Given the description of an element on the screen output the (x, y) to click on. 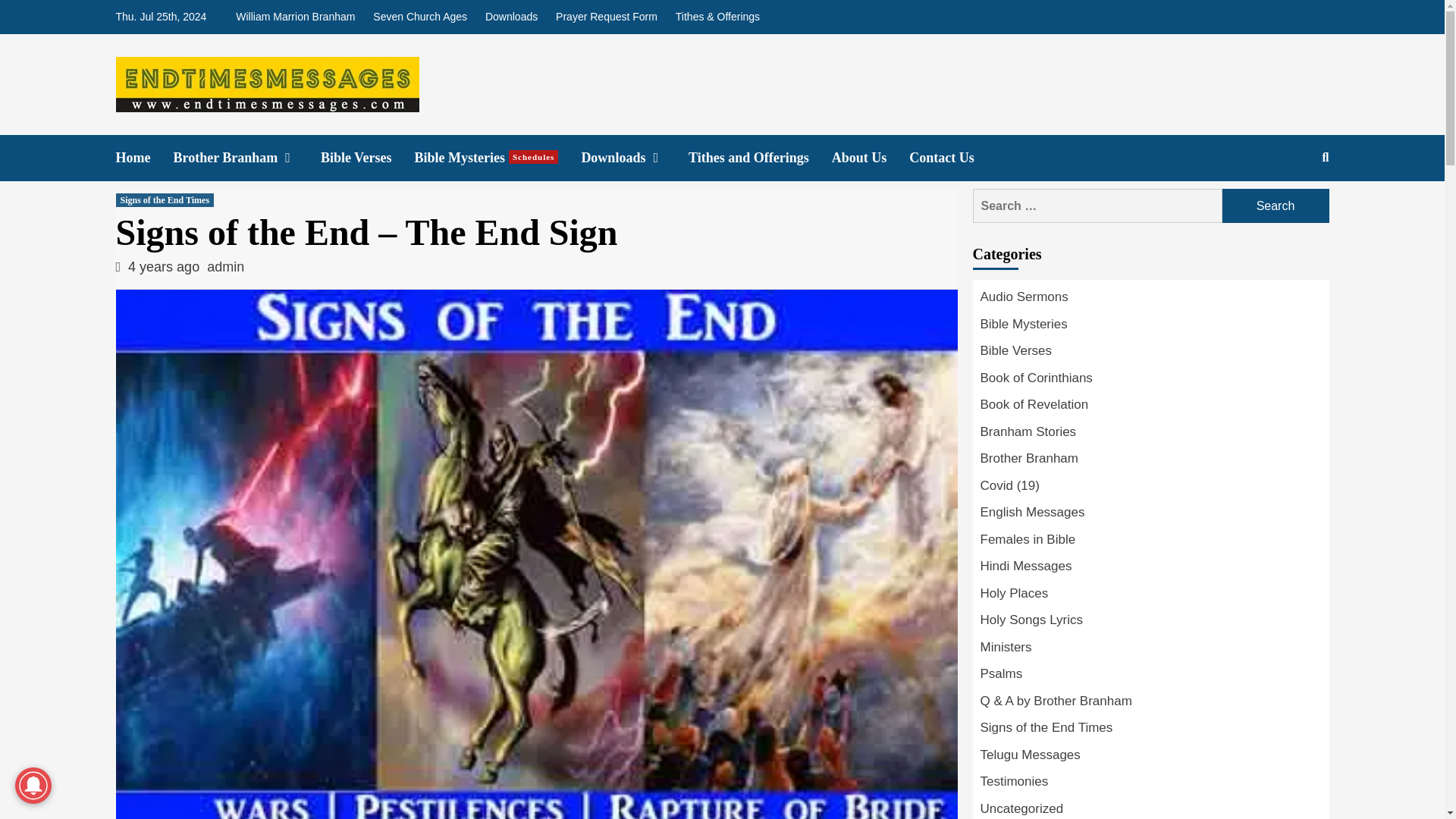
Downloads (510, 17)
Seven Church Ages (419, 17)
admin (225, 266)
Tithes and Offerings (759, 157)
Signs of the End Times (164, 200)
Brother Branham (246, 157)
Downloads (634, 157)
Prayer Request Form (606, 17)
Home (496, 157)
William Marrion Branham (144, 157)
Contact Us (298, 17)
Search (952, 157)
About Us (1276, 205)
Bible Verses (870, 157)
